Given the description of an element on the screen output the (x, y) to click on. 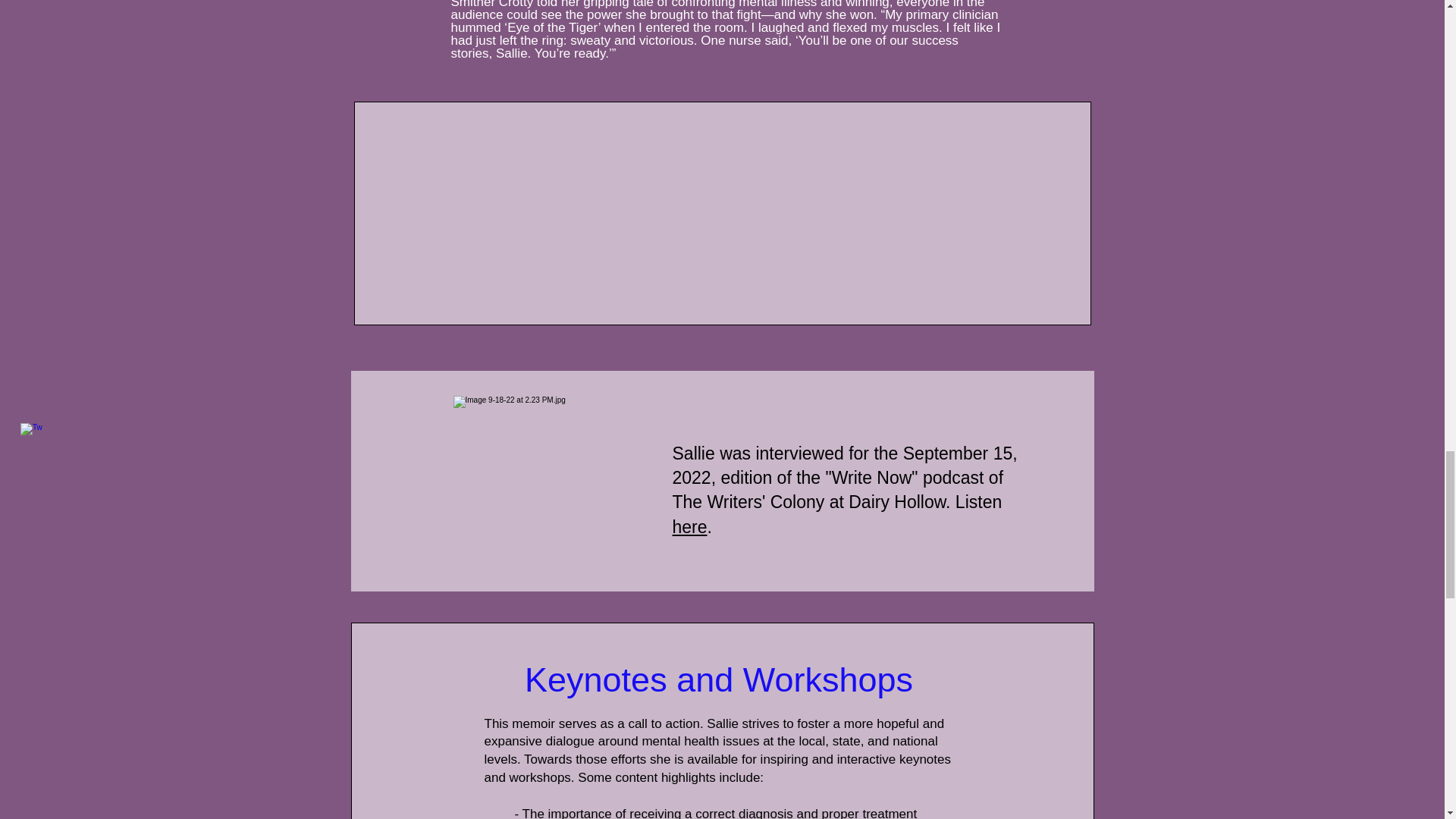
here (688, 526)
